Given the description of an element on the screen output the (x, y) to click on. 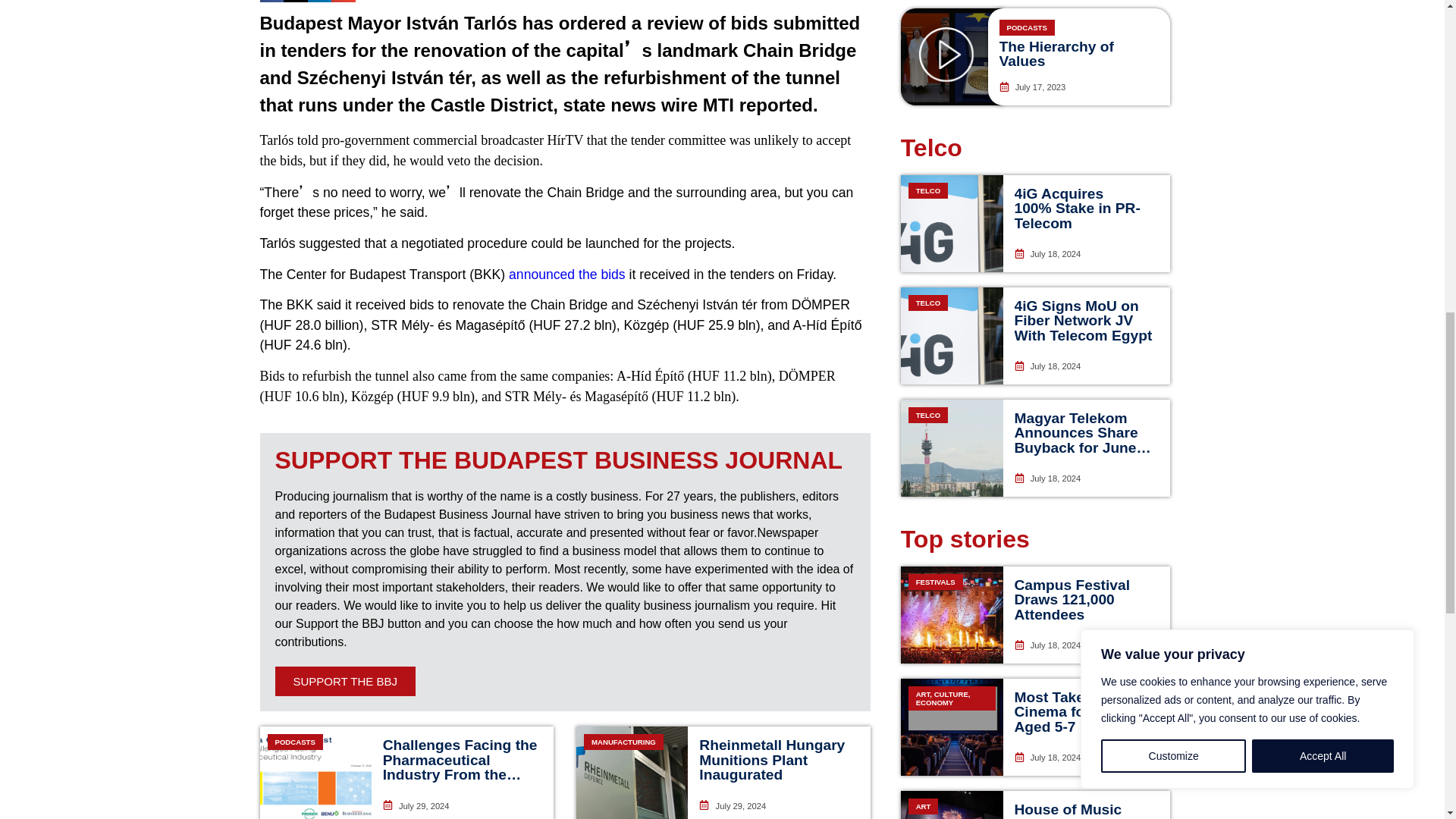
MANUFACTURING (631, 772)
PODCASTS (315, 772)
announced the bids (567, 273)
Rheinmetall Hungary Munitions Plant Inaugurated (771, 759)
SUPPORT THE BBJ (344, 681)
